Given the description of an element on the screen output the (x, y) to click on. 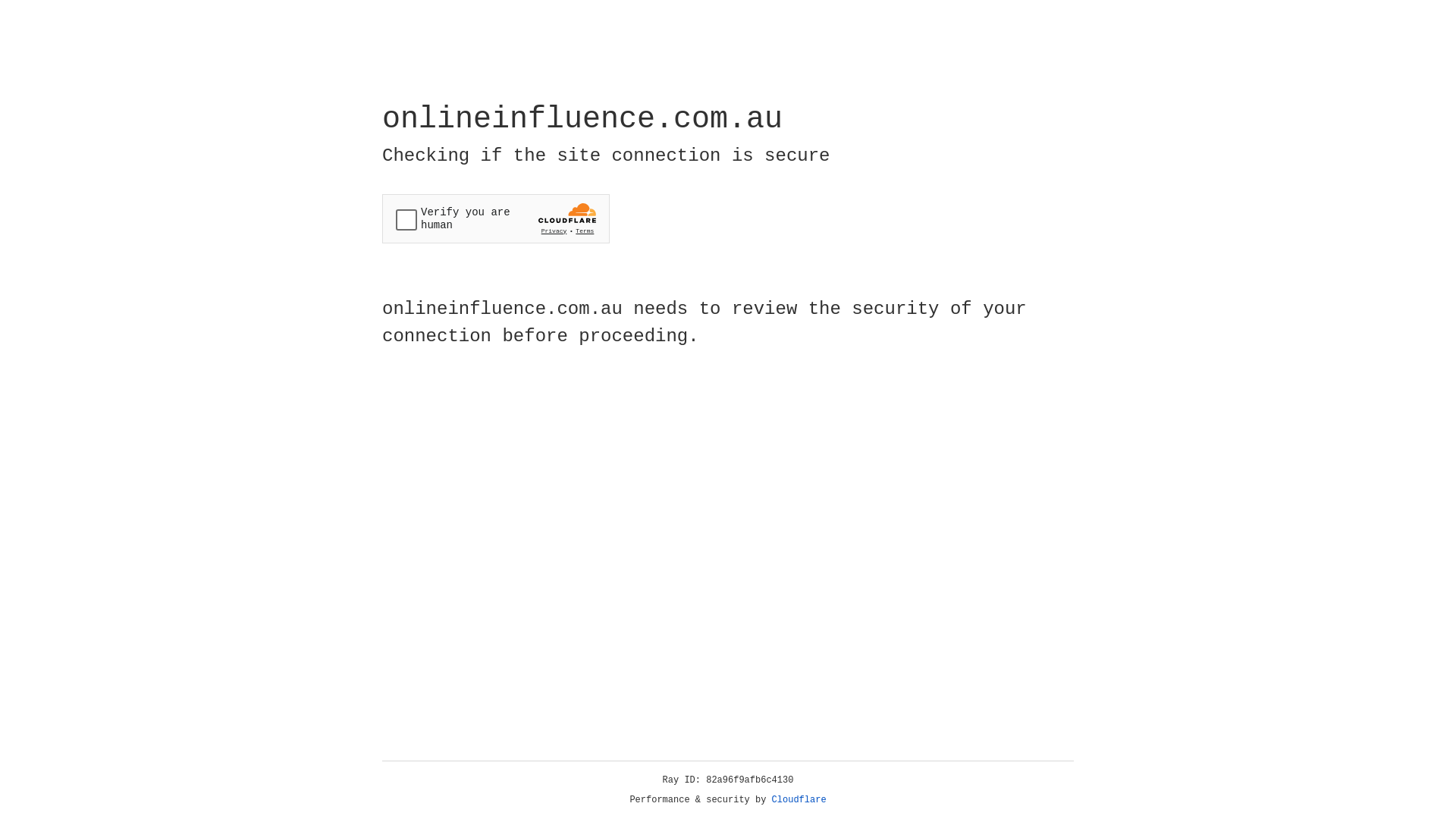
Cloudflare Element type: text (798, 799)
Widget containing a Cloudflare security challenge Element type: hover (495, 218)
